Given the description of an element on the screen output the (x, y) to click on. 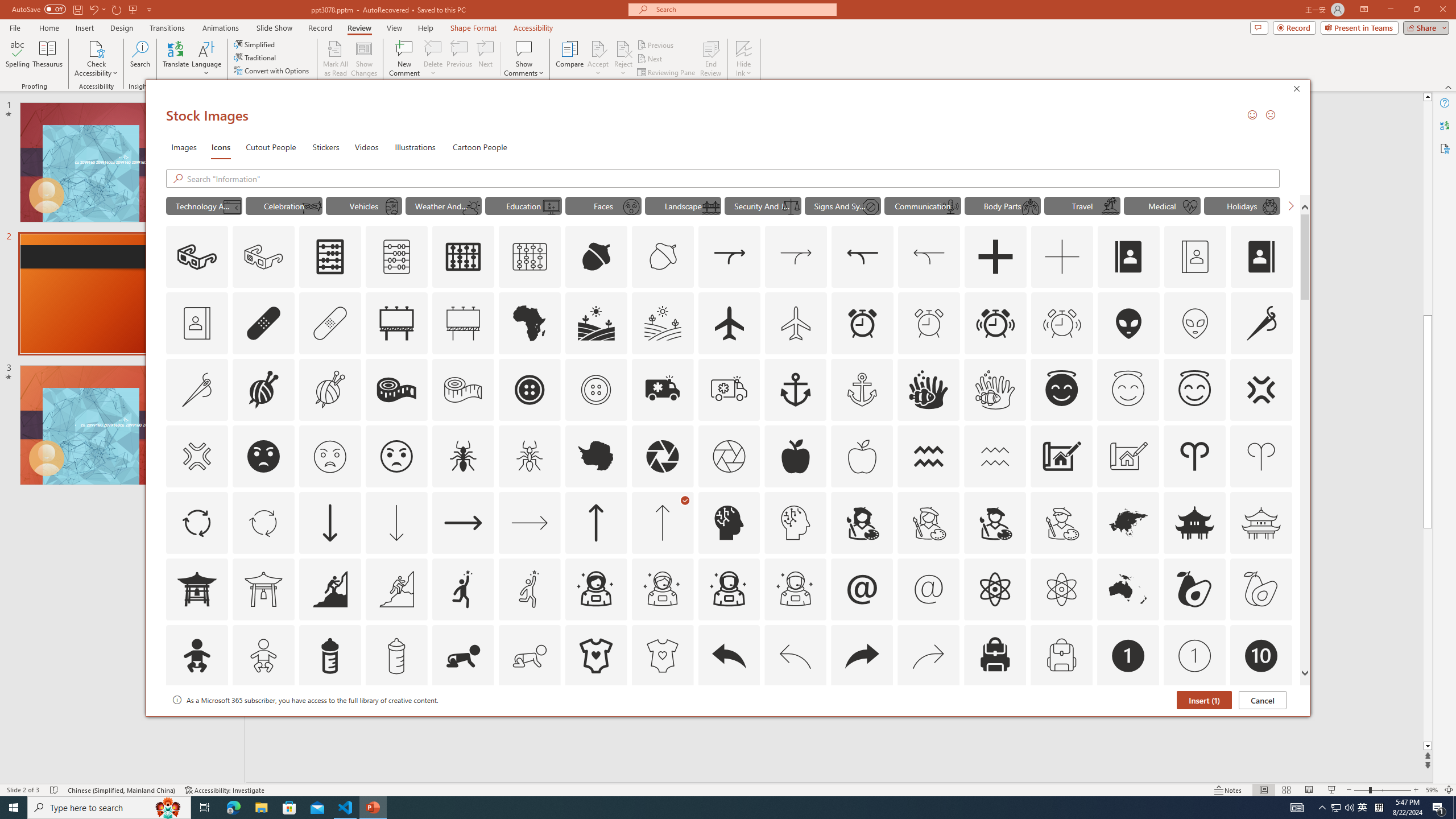
AutomationID: Icons_Badge1_M (1194, 655)
AutomationID: Icons_AngryFace (263, 455)
AutomationID: Icons_Badge9 (1194, 721)
AutomationID: Icons_Lungs_M (1030, 206)
AutomationID: Icons_Abacus1 (462, 256)
AutomationID: Icons_PlaneWindow_M (391, 206)
AutomationID: Icons_Badge1 (1128, 655)
AutomationID: Icons_Backpack (995, 655)
